Given the description of an element on the screen output the (x, y) to click on. 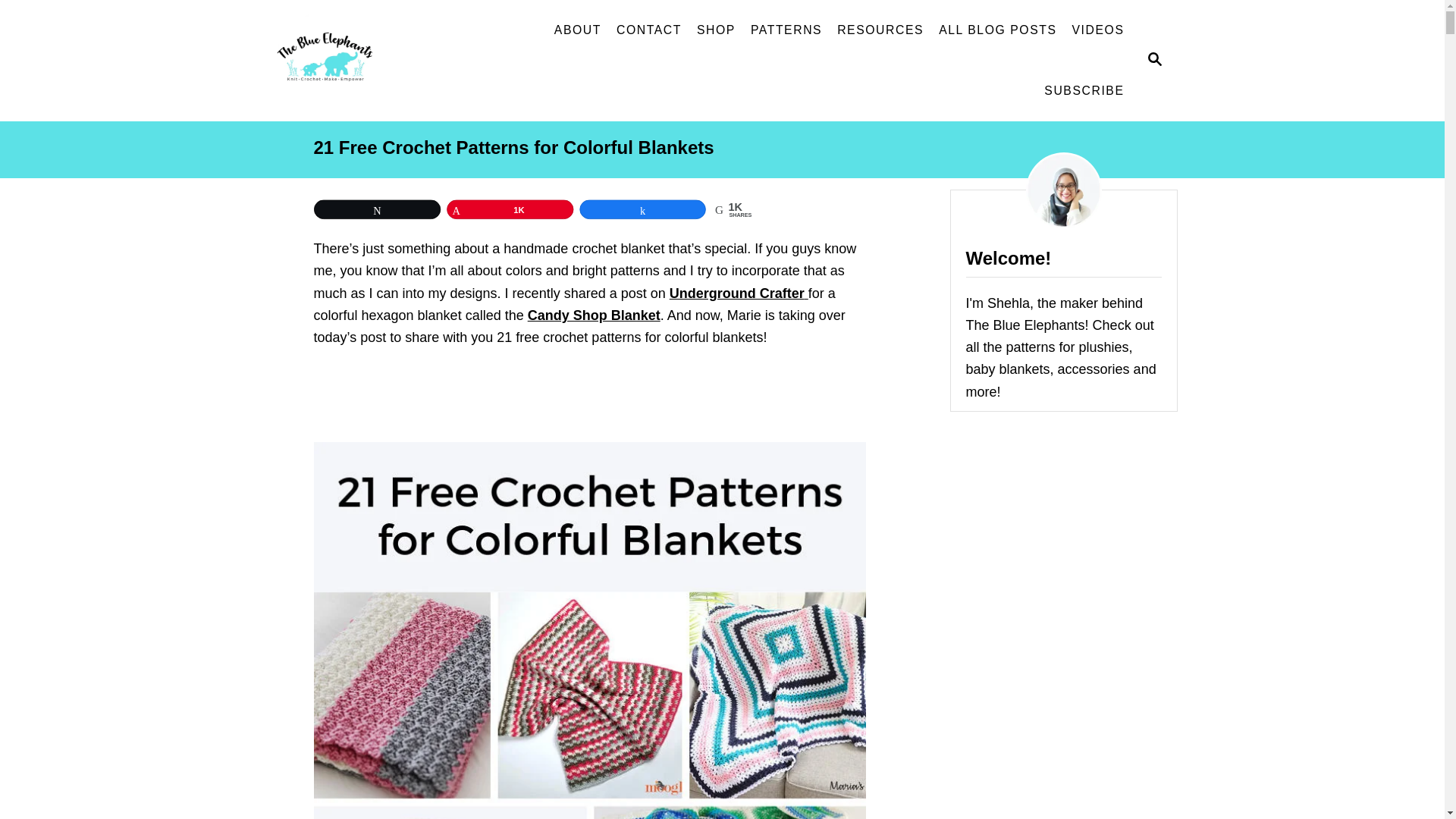
Underground Crafter (738, 292)
1K (525, 210)
ABOUT (577, 30)
VIDEOS (1098, 30)
SUBSCRIBE (1083, 91)
RESOURCES (880, 30)
ALL BLOG POSTS (997, 30)
The Blue Elephants (374, 60)
PATTERNS (785, 30)
SEARCH (1153, 60)
SHOP (715, 30)
CONTACT (648, 30)
